Given the description of an element on the screen output the (x, y) to click on. 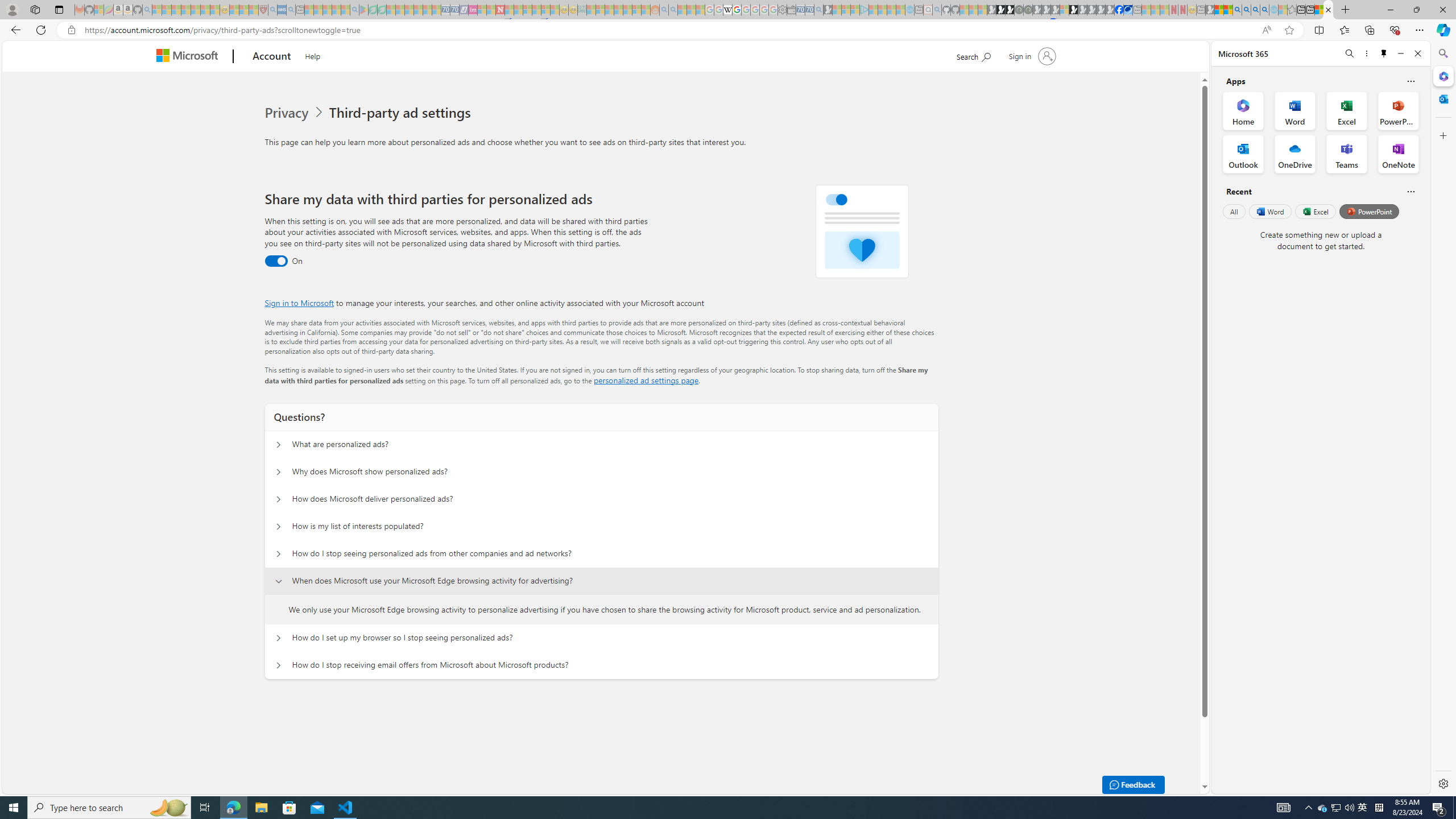
Bing AI - Search (1236, 9)
Third party data sharing toggle (276, 260)
Home Office App (1243, 110)
